Given the description of an element on the screen output the (x, y) to click on. 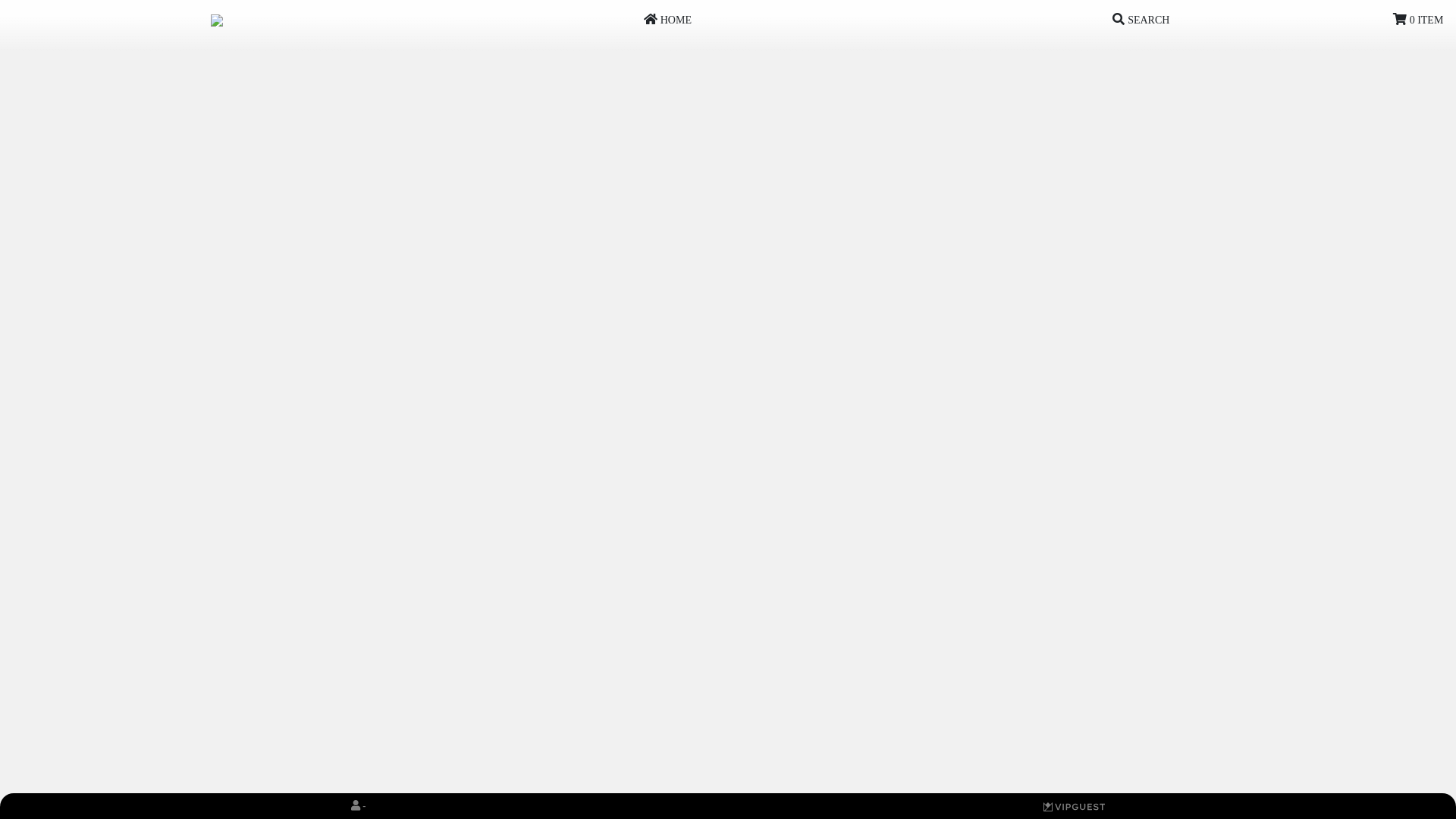
- Element type: text (358, 805)
0 Element type: text (1073, 805)
HOME Element type: text (667, 20)
SEARCH Element type: text (1141, 20)
